Given the description of an element on the screen output the (x, y) to click on. 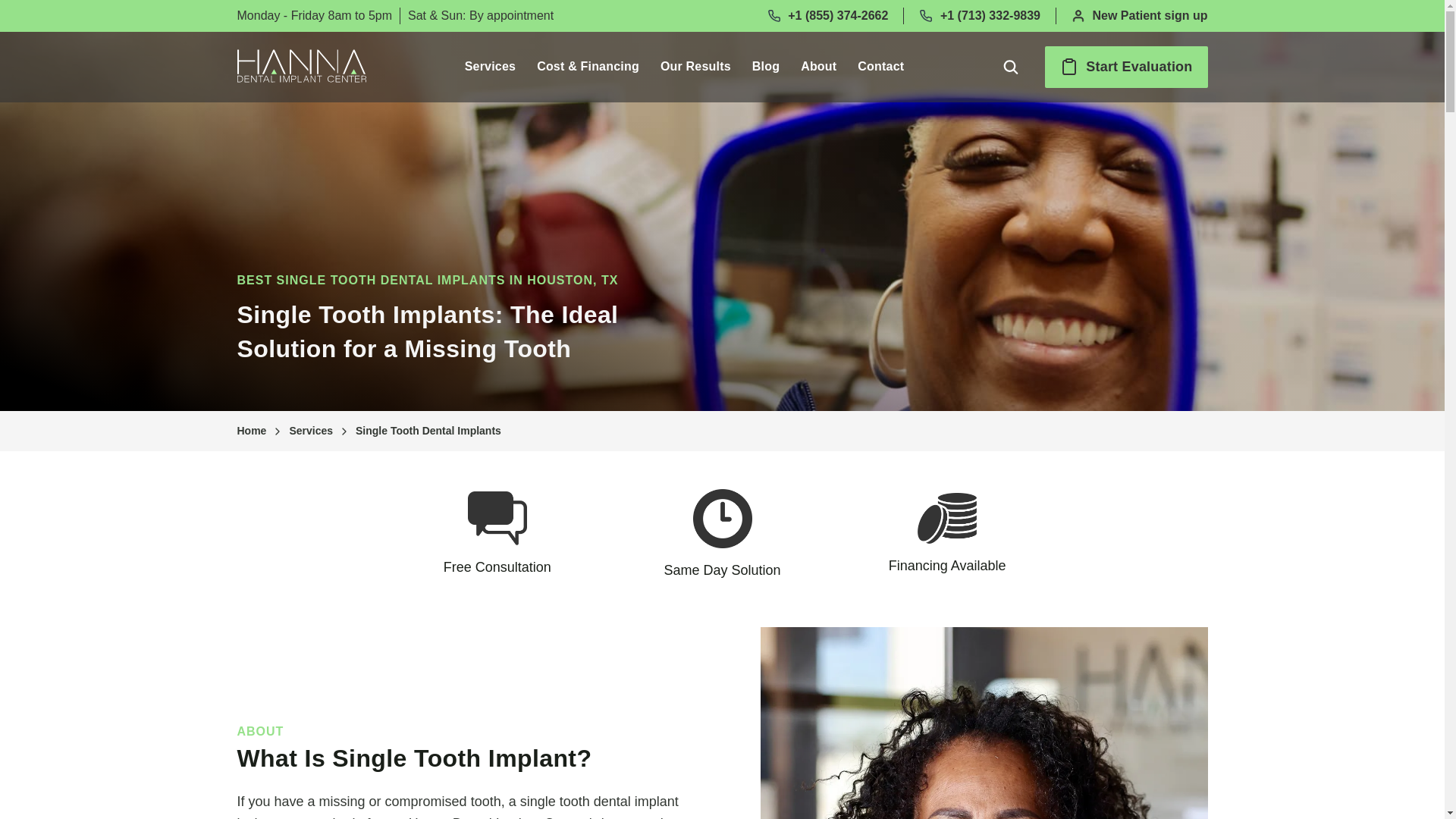
Our Results (695, 66)
Services (489, 66)
New Patient sign up (1139, 15)
About (818, 66)
Contact (880, 66)
Blog (765, 66)
